Given the description of an element on the screen output the (x, y) to click on. 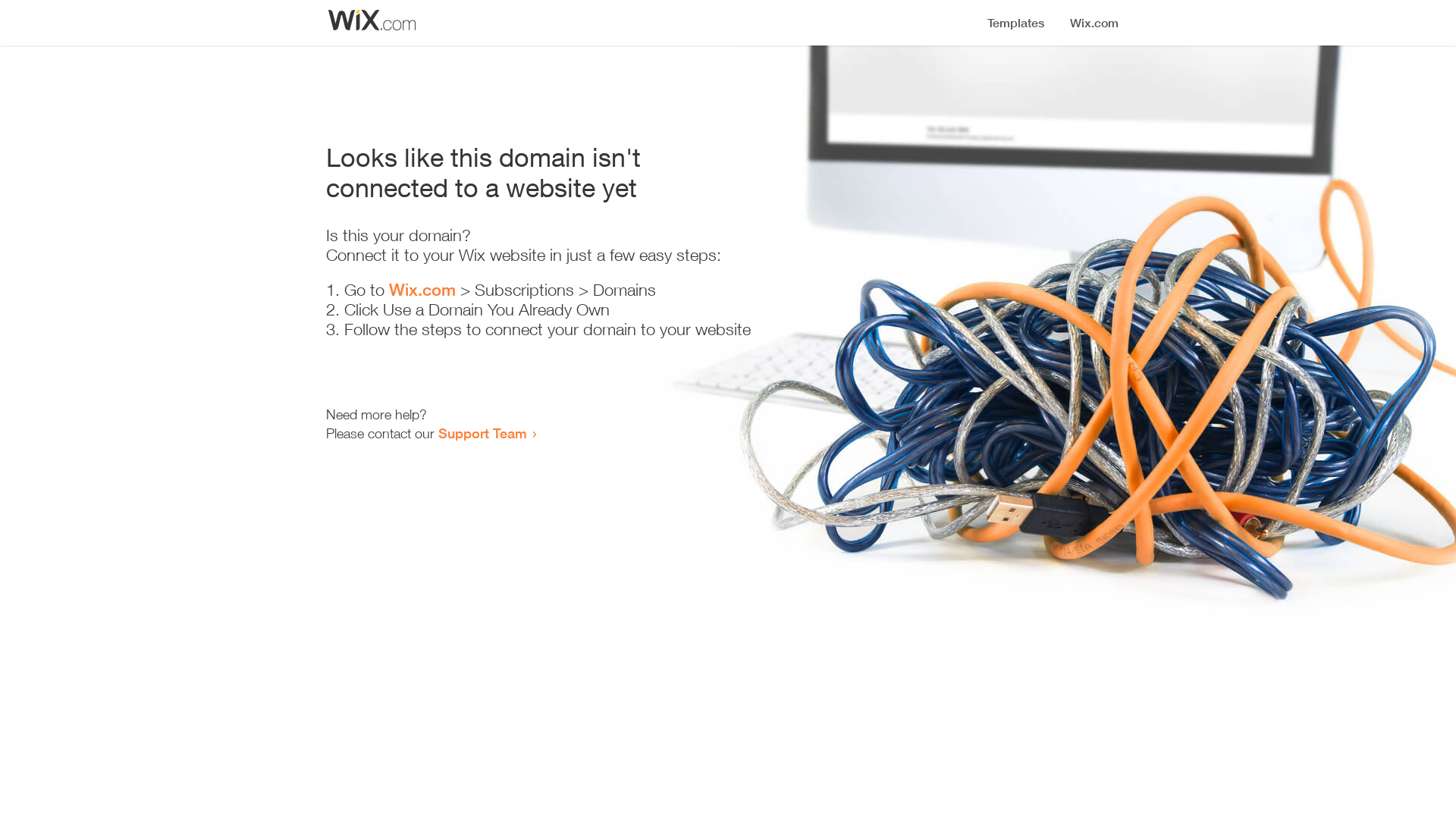
Support Team Element type: text (482, 432)
Wix.com Element type: text (422, 289)
